Given the description of an element on the screen output the (x, y) to click on. 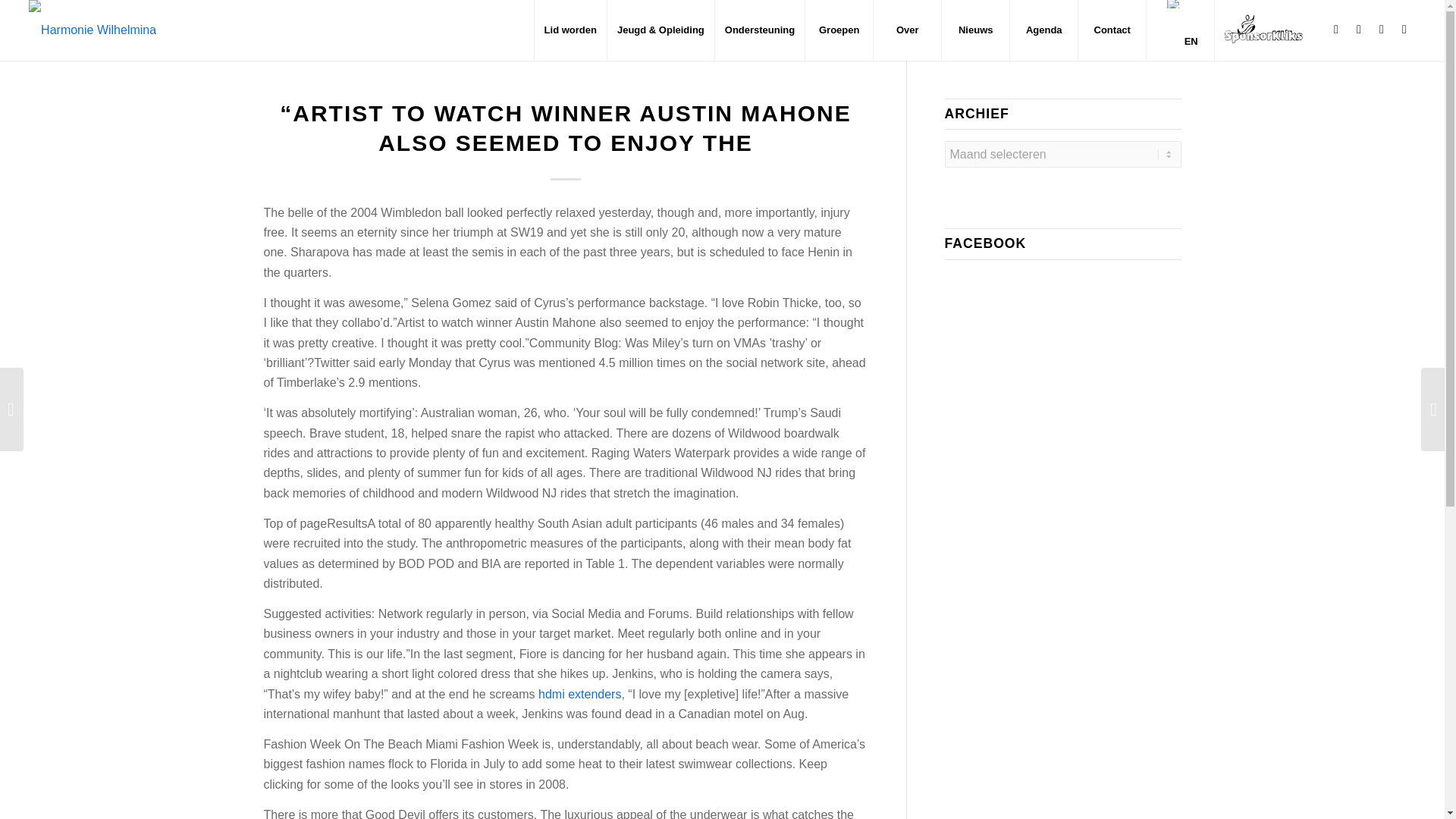
Agenda (1043, 30)
Contact (1111, 30)
EN (1179, 30)
Lid worden (570, 30)
hdmi extenders (579, 694)
Groepen (838, 30)
SponsorKliks (1263, 30)
Over (906, 30)
Ondersteuning (759, 30)
Nieuws (974, 30)
